Given the description of an element on the screen output the (x, y) to click on. 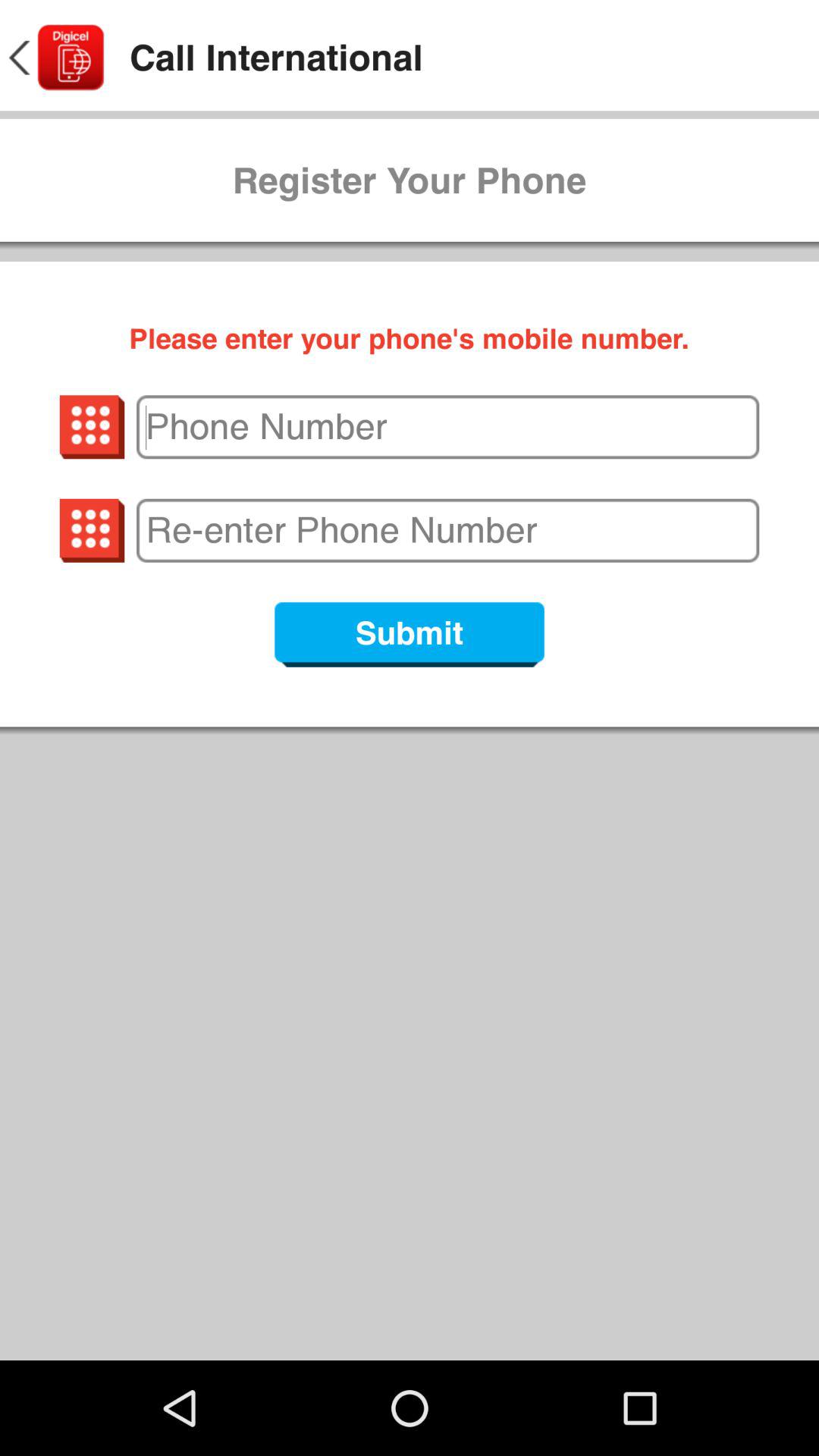
enter number (447, 530)
